Given the description of an element on the screen output the (x, y) to click on. 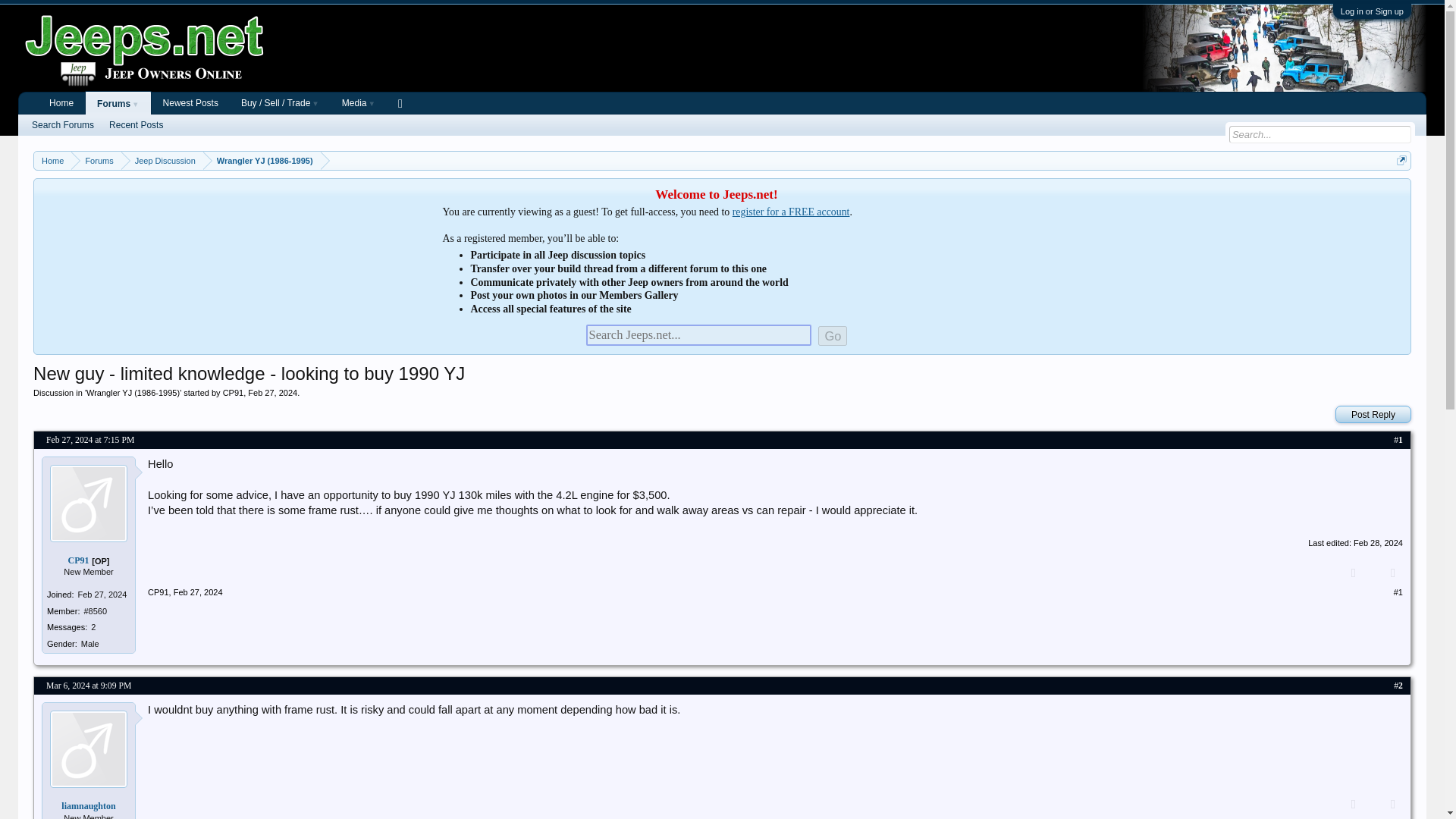
CP91 (78, 560)
2 (1400, 685)
CP91 (158, 592)
Previous post by CP91 (1352, 573)
Permalink (1400, 685)
Home (60, 102)
register for a FREE account (791, 211)
CP91 (233, 392)
Permalink (1398, 592)
Go (832, 335)
Home (52, 160)
Recent Posts (135, 125)
Permalink (197, 592)
Previous post by liamnaughton (1352, 805)
Jeep winter meetup in Arizona (1283, 47)
